Given the description of an element on the screen output the (x, y) to click on. 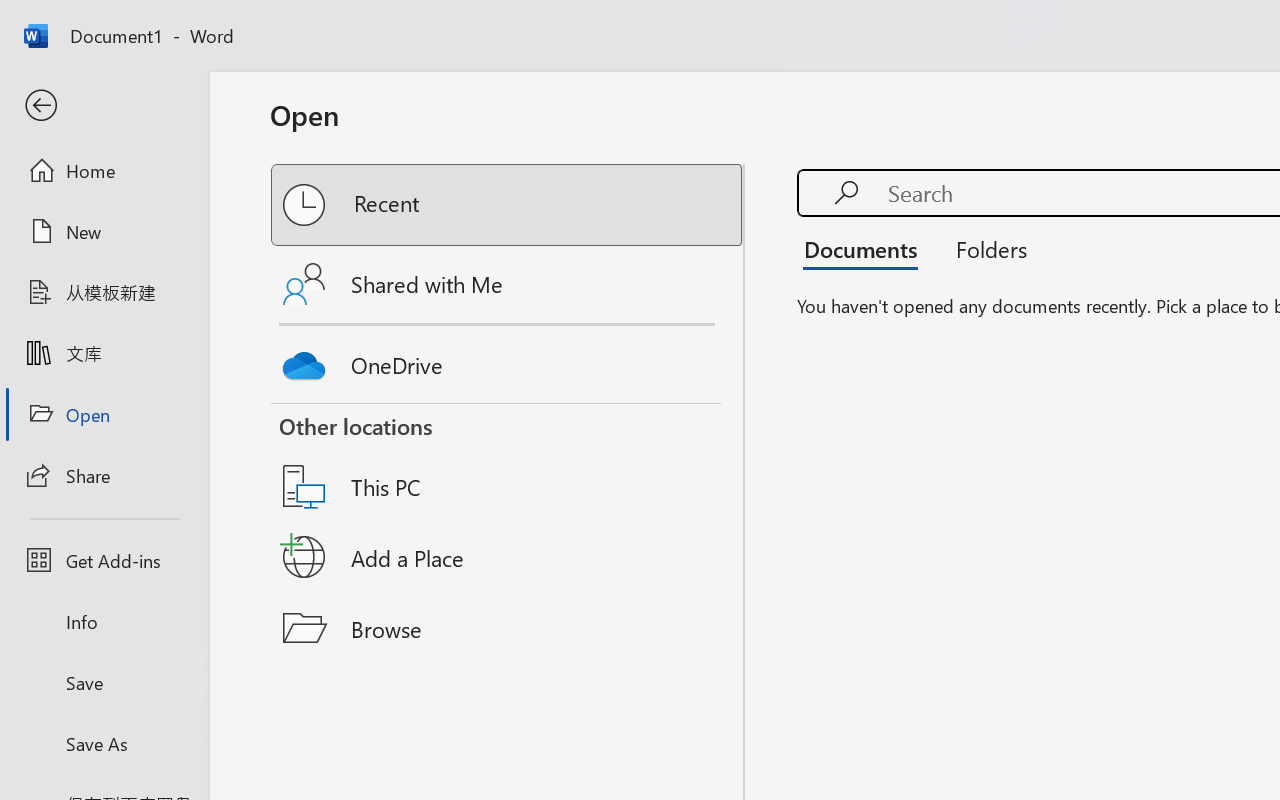
Browse (507, 627)
New (104, 231)
Save As (104, 743)
Get Add-ins (104, 560)
